Given the description of an element on the screen output the (x, y) to click on. 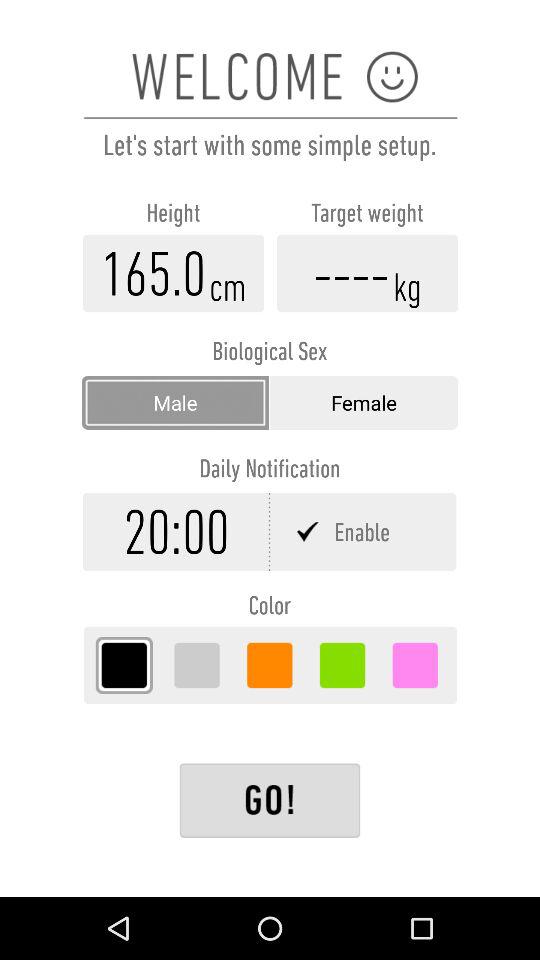
enter weight (367, 273)
